Given the description of an element on the screen output the (x, y) to click on. 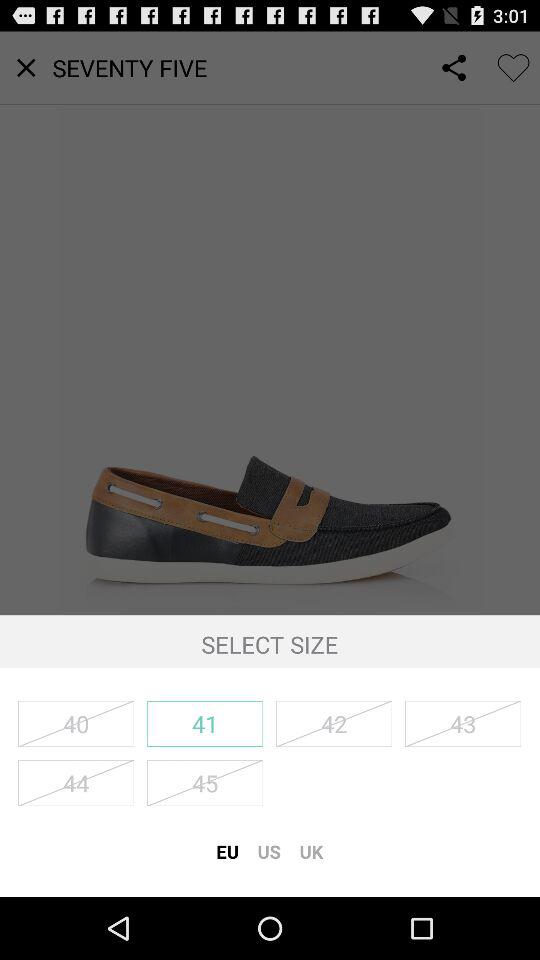
select icon to the left of the us (227, 851)
